Given the description of an element on the screen output the (x, y) to click on. 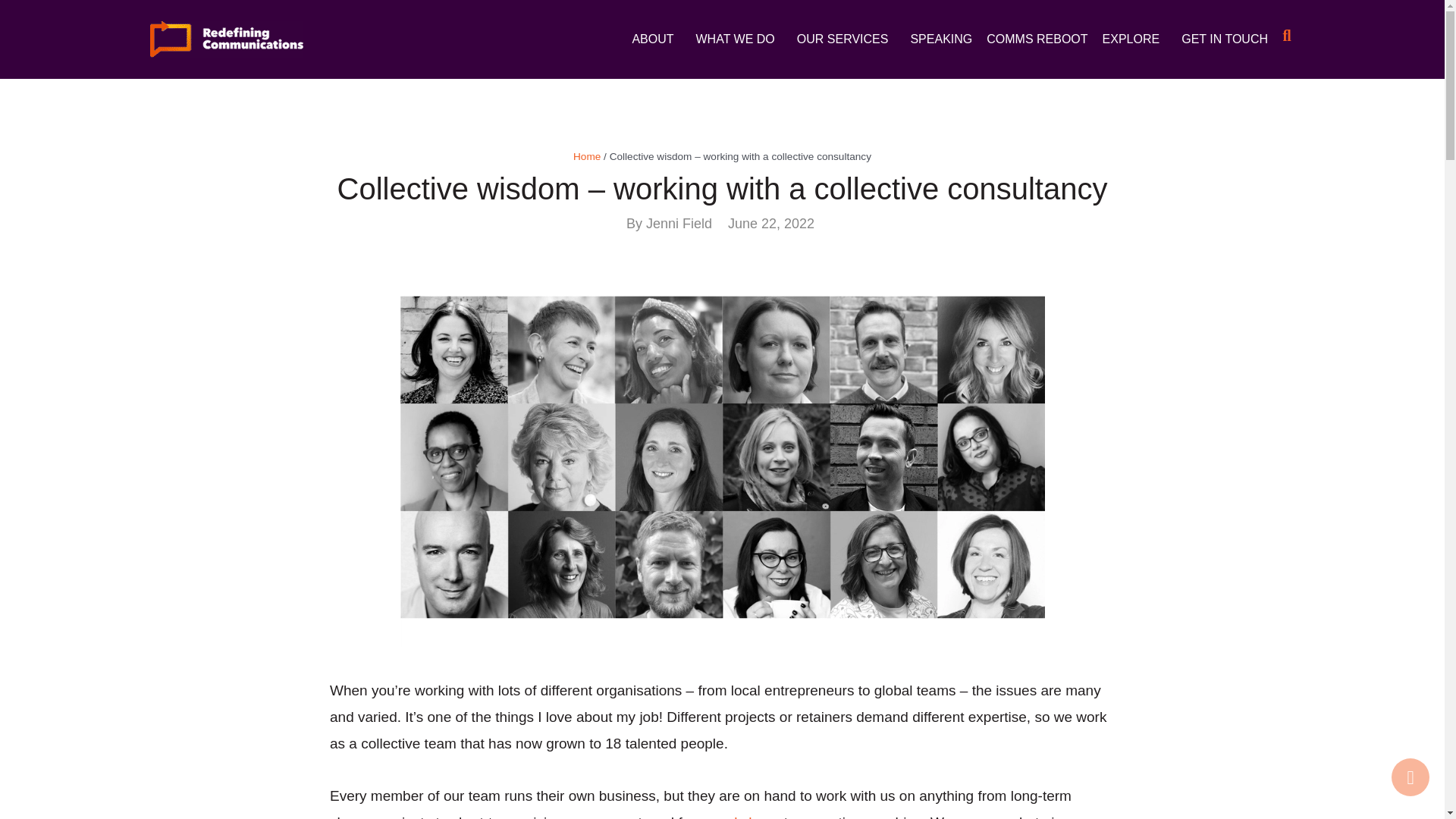
EXPLORE (1134, 39)
COMMS REBOOT (1037, 39)
OUR SERVICES (846, 39)
WHAT WE DO (739, 39)
GET IN TOUCH (1224, 39)
SPEAKING (941, 39)
ABOUT (656, 39)
